Given the description of an element on the screen output the (x, y) to click on. 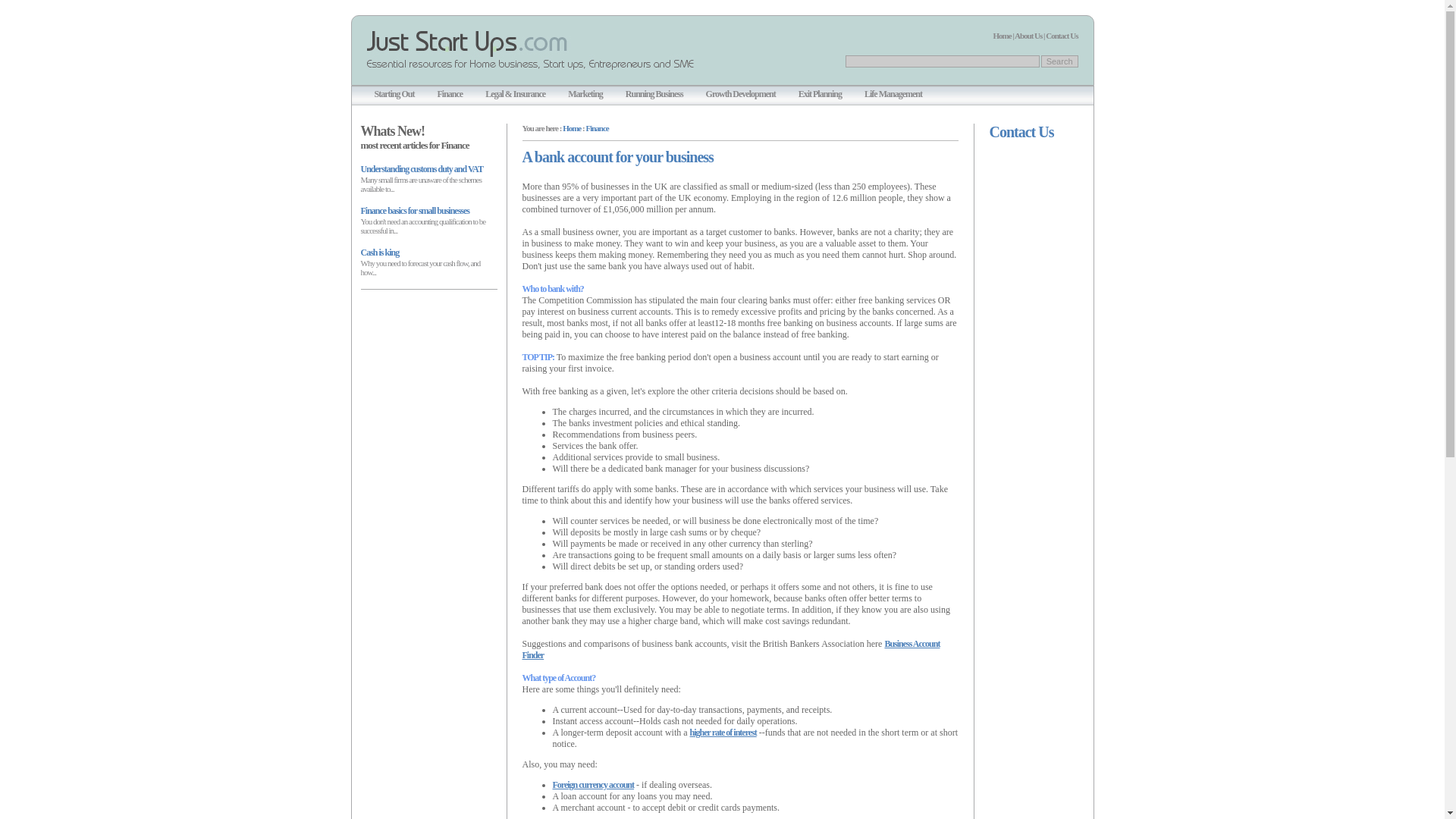
Home (1001, 35)
Running Business (654, 93)
About Us (1028, 35)
Business Account Finder (730, 649)
Contact Us (1061, 35)
Cash is king (379, 252)
Exit Planning (819, 93)
Growth Development (741, 93)
Many small firms are unaware of the schemes available to... (421, 184)
